Given the description of an element on the screen output the (x, y) to click on. 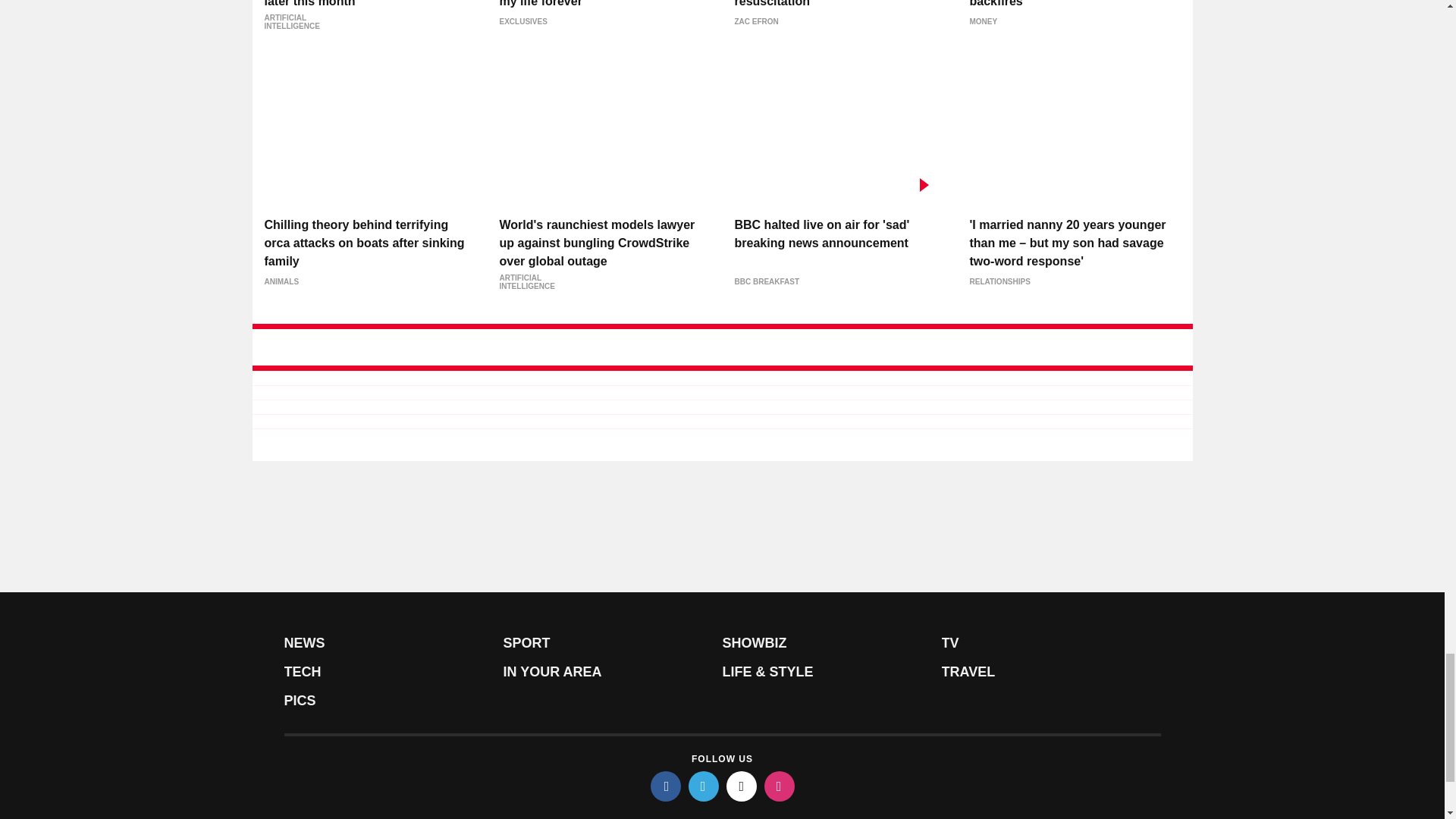
instagram (779, 786)
tiktok (741, 786)
twitter (703, 786)
facebook (665, 786)
